Given the description of an element on the screen output the (x, y) to click on. 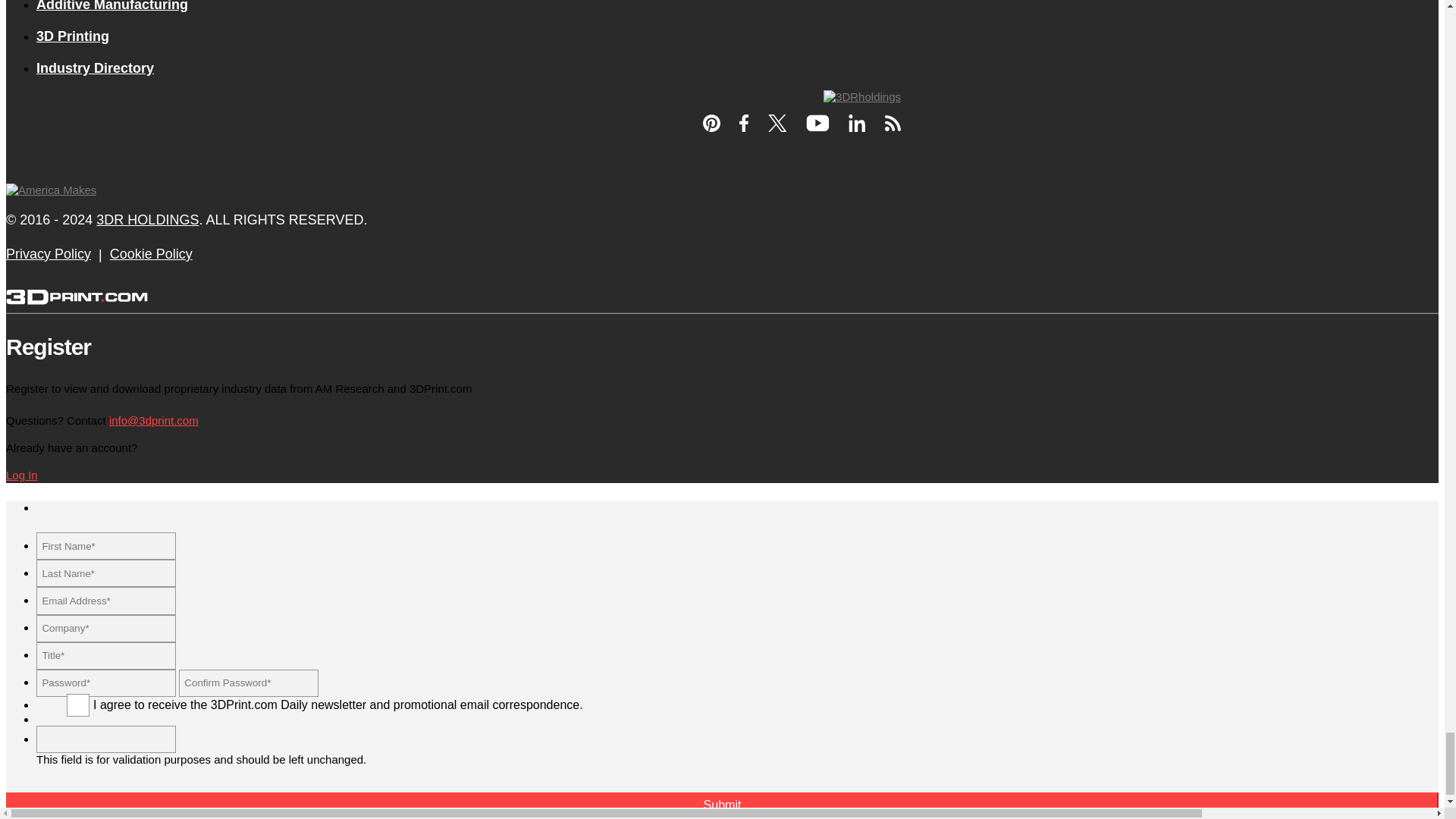
Submit (721, 805)
